Given the description of an element on the screen output the (x, y) to click on. 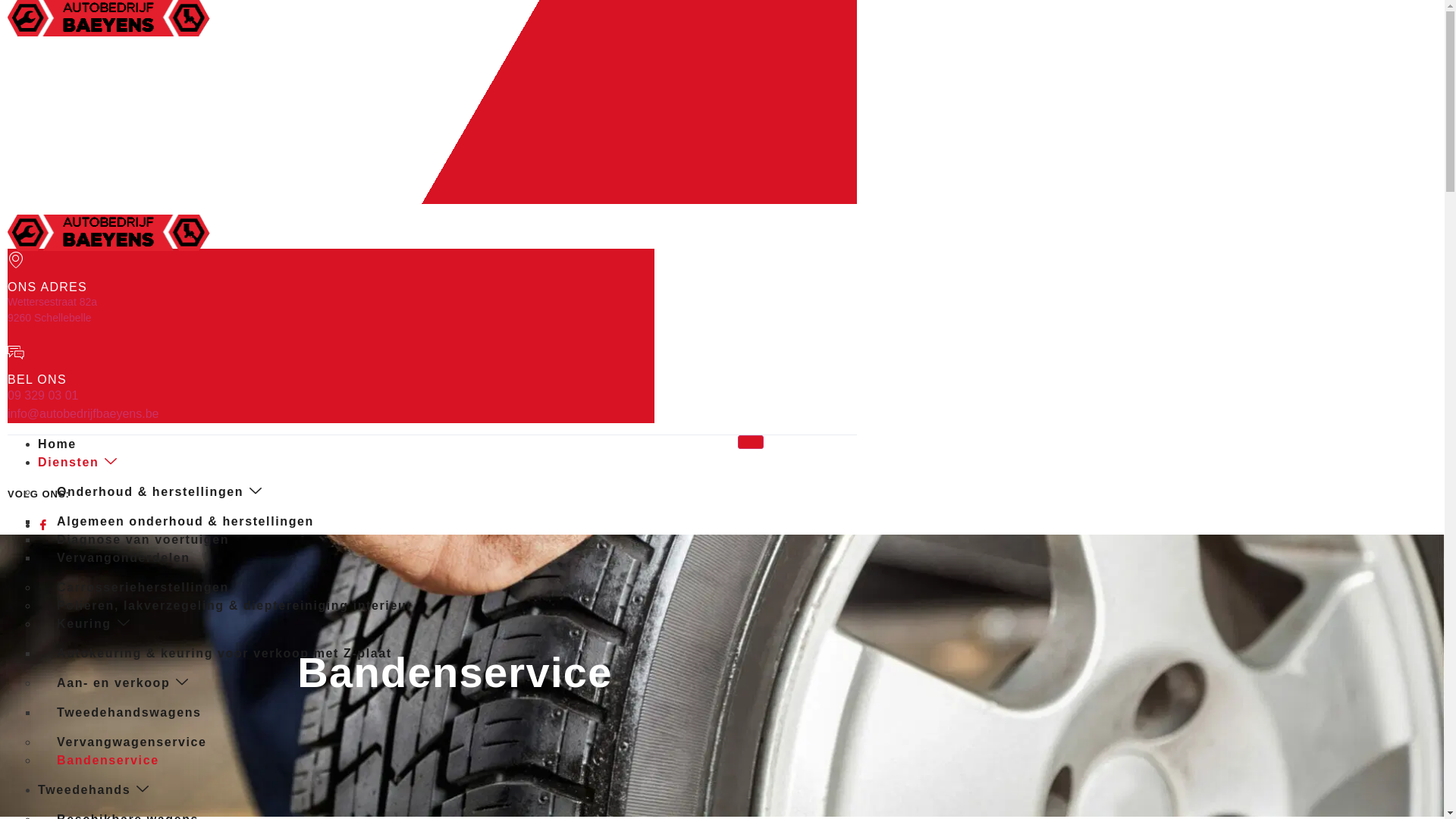
Vervangwagenservice Element type: text (131, 741)
Tweedehands Element type: text (105, 789)
Aan- en verkoop Element type: text (122, 682)
Keuring Element type: text (93, 623)
Vervangonderdelen Element type: text (123, 557)
Polieren, lakverzegeling & dieptereiniging interieur Element type: text (234, 605)
Autokeuring & keuring voor verkoop met Z-plaat Element type: text (224, 653)
Onderhoud & herstellingen Element type: text (159, 491)
09 329 03 01 Element type: text (42, 395)
Carrosserieherstellingen Element type: text (142, 587)
info@autobedrijfbaeyens.be Element type: text (73, 195)
Diensten Element type: text (89, 461)
Wettersestraat 82a
9260 Schellebelle Element type: text (52, 309)
Home Element type: text (68, 443)
info@autobedrijfbaeyens.be Element type: text (83, 413)
Algemeen onderhoud & herstellingen Element type: text (184, 521)
Tweedehandswagens Element type: text (128, 712)
09 329 03 01 Element type: text (38, 179)
Diagnose van voertuigen Element type: text (142, 539)
Bandenservice Element type: text (107, 760)
Wettersestraat 82a
9260 Schellebelle Element type: text (52, 95)
